Given the description of an element on the screen output the (x, y) to click on. 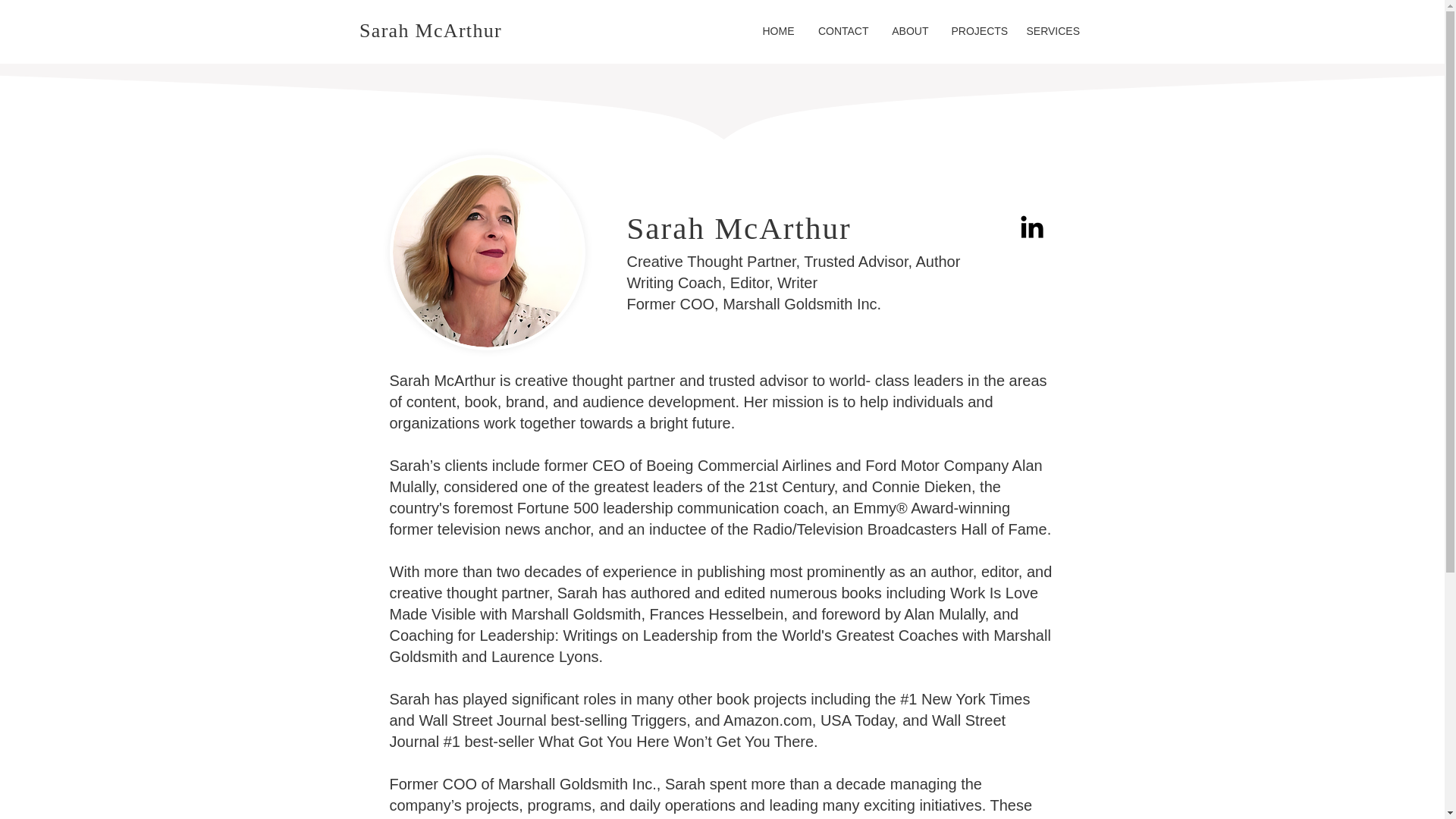
PROJECTS (977, 30)
HOME (778, 30)
Sarah McArthur (430, 29)
SERVICES (1049, 30)
CONTACT (842, 30)
ABOUT (909, 30)
